Given the description of an element on the screen output the (x, y) to click on. 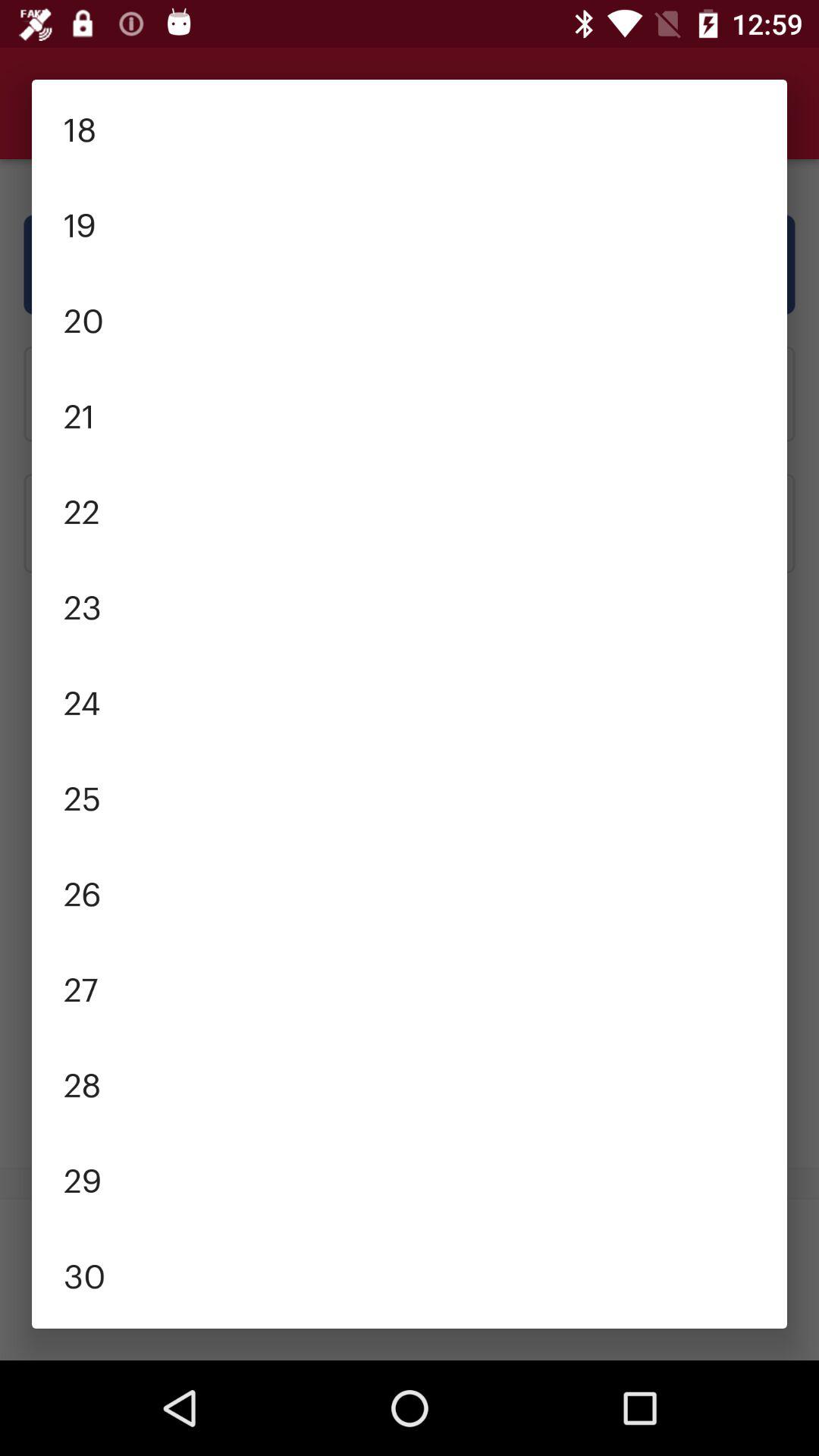
flip until the 24 item (409, 700)
